Given the description of an element on the screen output the (x, y) to click on. 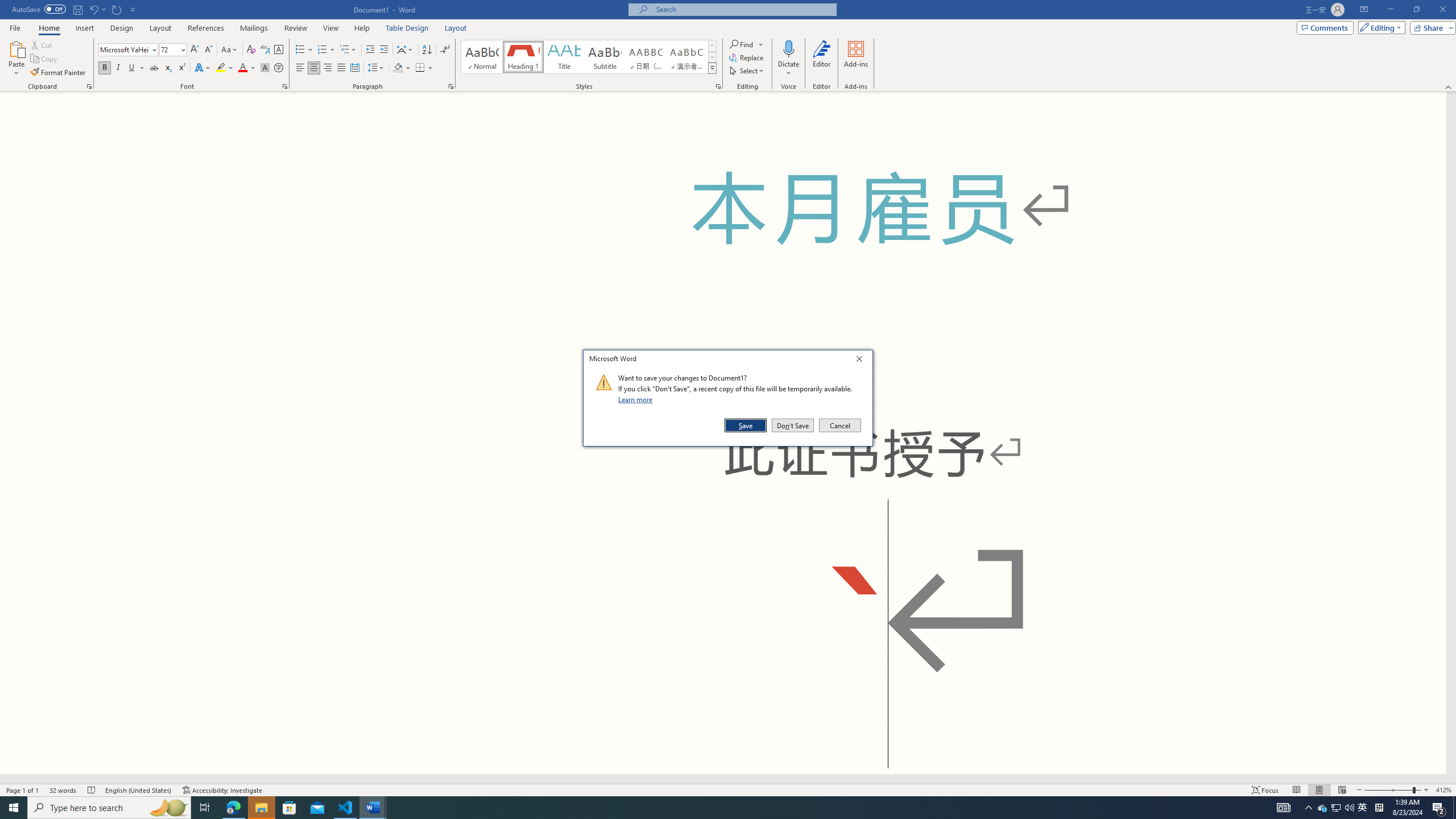
Don't Save (792, 425)
